Given the description of an element on the screen output the (x, y) to click on. 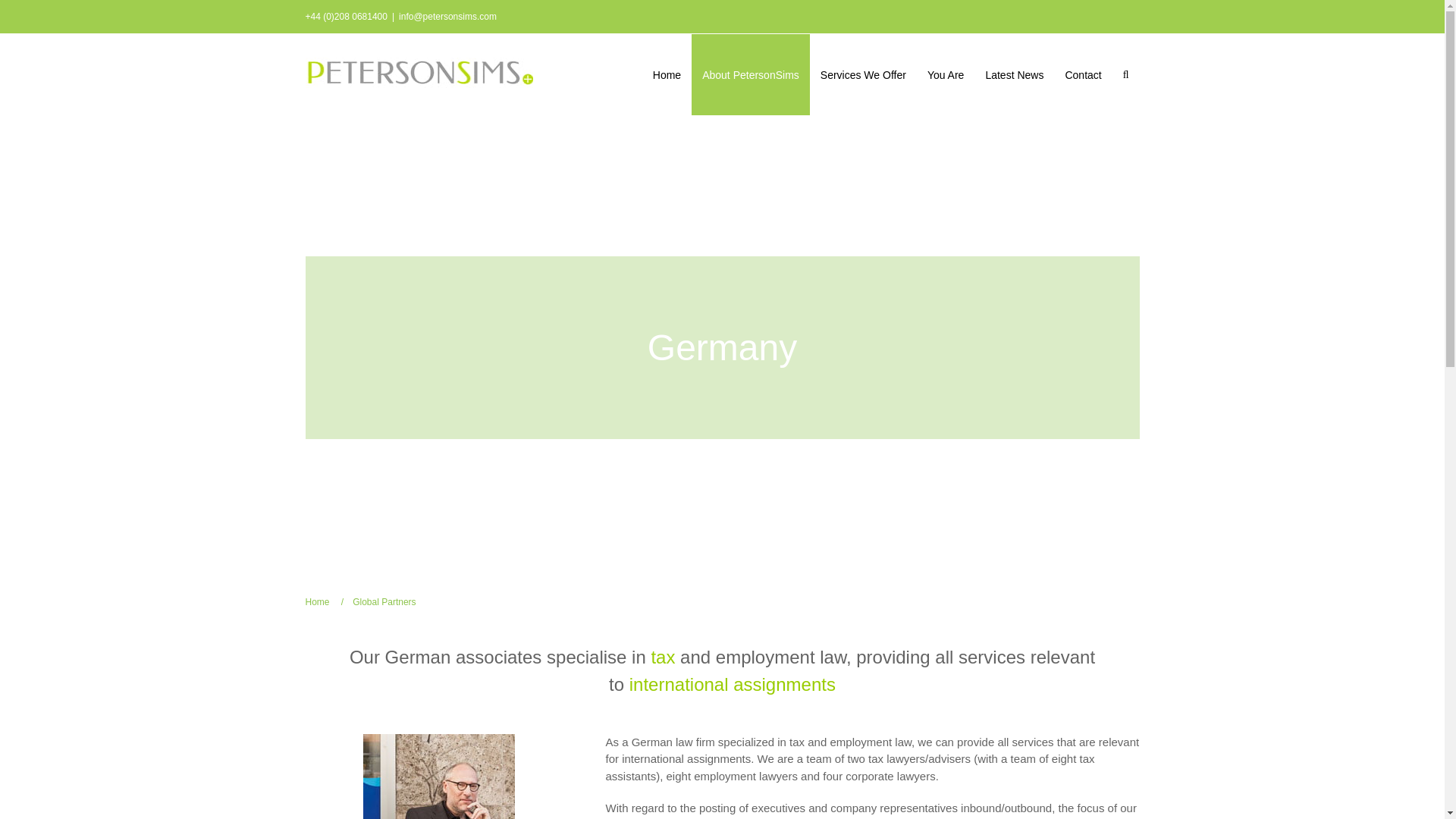
About PetersonSims (750, 74)
joachim-german-associate (437, 776)
